Given the description of an element on the screen output the (x, y) to click on. 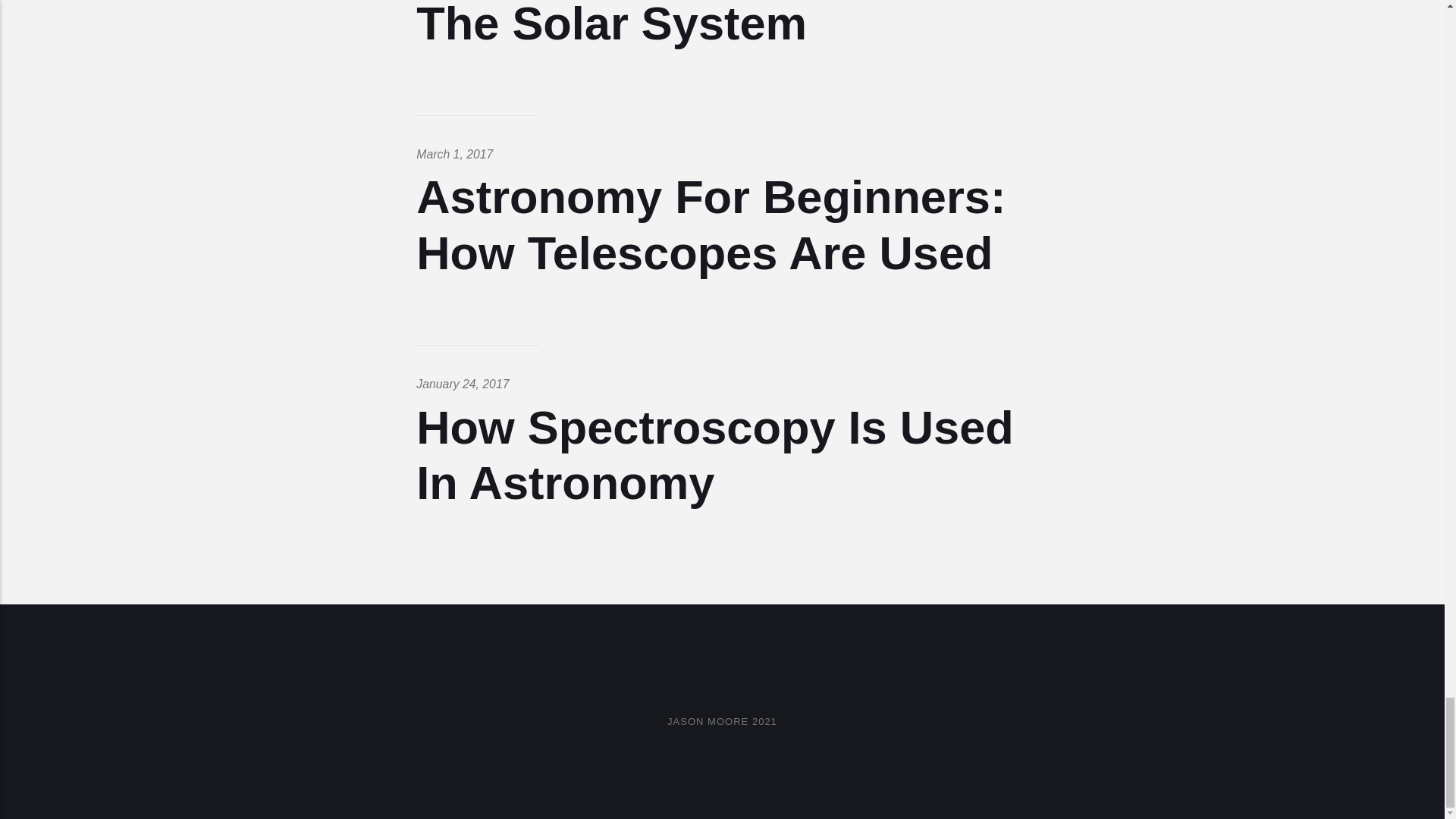
Astronomy For Beginners: The Solar System (711, 24)
Astronomy For Beginners: How Telescopes Are Used (711, 224)
How Spectroscopy Is Used In Astronomy (714, 455)
